Given the description of an element on the screen output the (x, y) to click on. 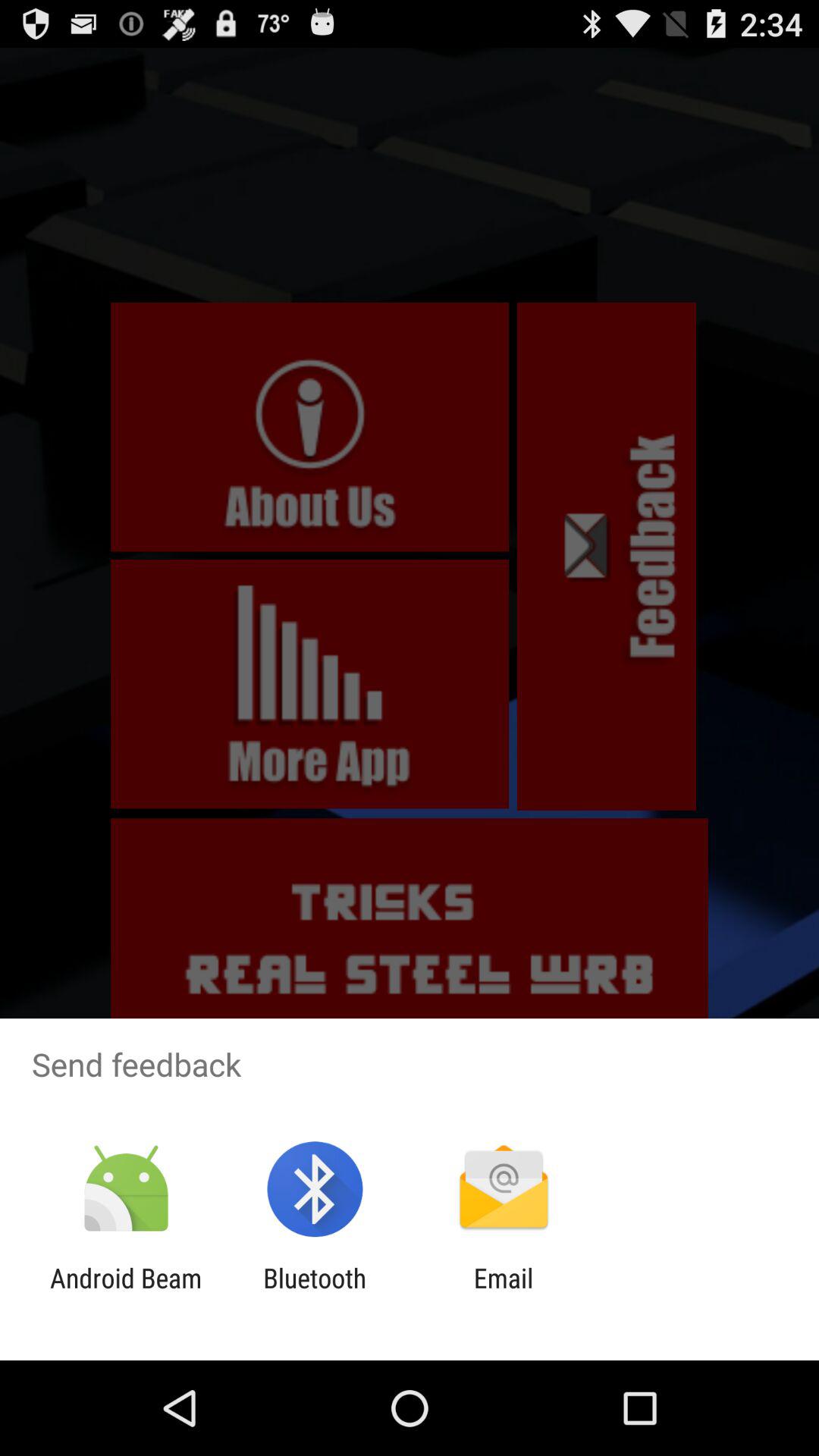
click item next to the email item (314, 1293)
